Given the description of an element on the screen output the (x, y) to click on. 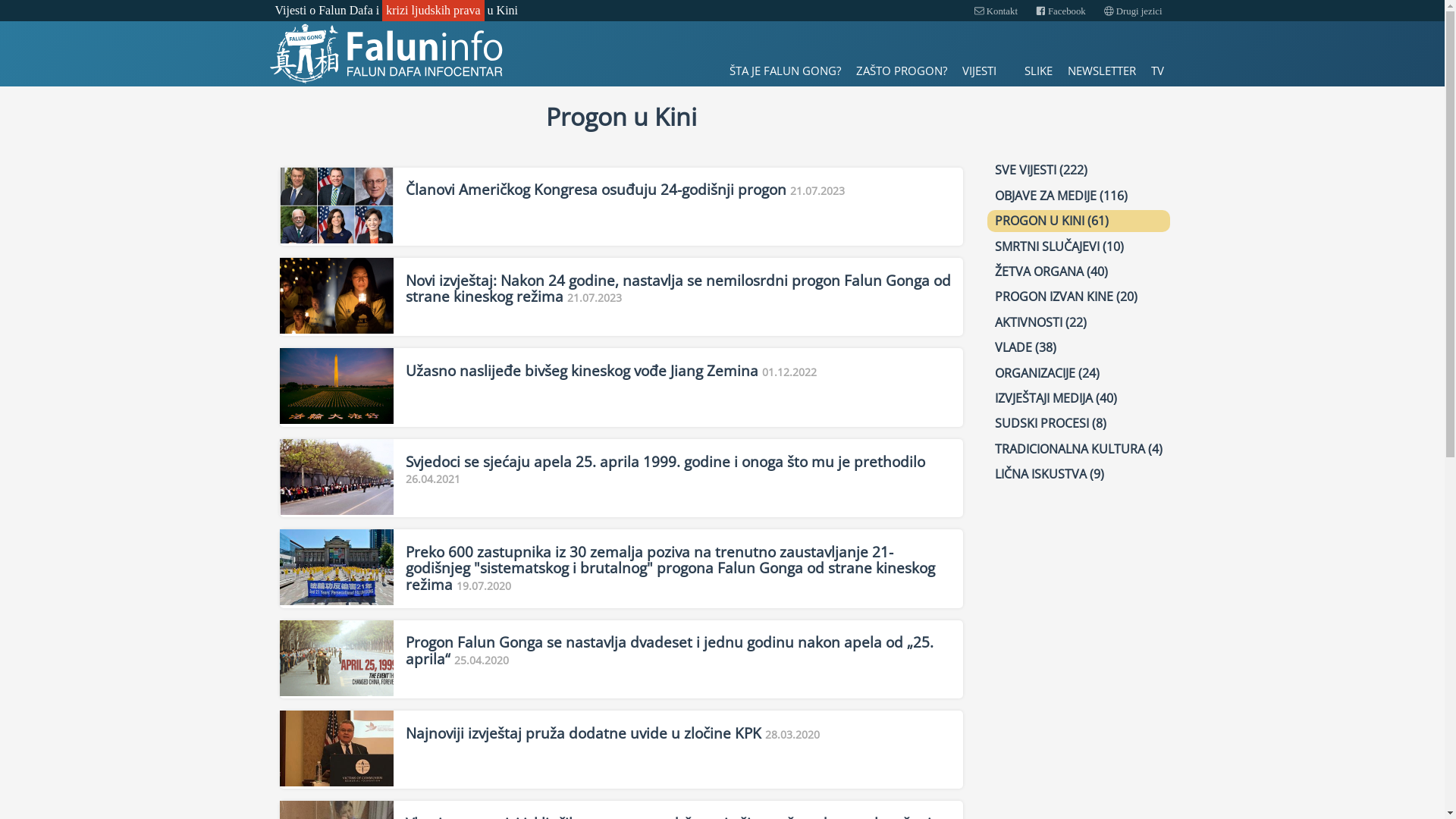
PROGON U KINI (61) Element type: text (1078, 220)
VLADE (38) Element type: text (1078, 346)
NEWSLETTER Element type: text (1101, 70)
SUDSKI PROCESI (8) Element type: text (1078, 422)
OBJAVE ZA MEDIJE (116) Element type: text (1078, 195)
AKTIVNOSTI (22) Element type: text (1078, 321)
Kontakt Element type: text (995, 11)
Drugi jezici Element type: text (1133, 11)
ORGANIZACIJE (24) Element type: text (1078, 372)
VIJESTI Element type: text (984, 70)
TV Element type: text (1157, 70)
TRADICIONALNA KULTURA (4) Element type: text (1078, 448)
SLIKE Element type: text (1037, 70)
PROGON IZVAN KINE (20) Element type: text (1078, 296)
SVE VIJESTI (222) Element type: text (1078, 169)
Facebook Element type: text (1060, 11)
